Given the description of an element on the screen output the (x, y) to click on. 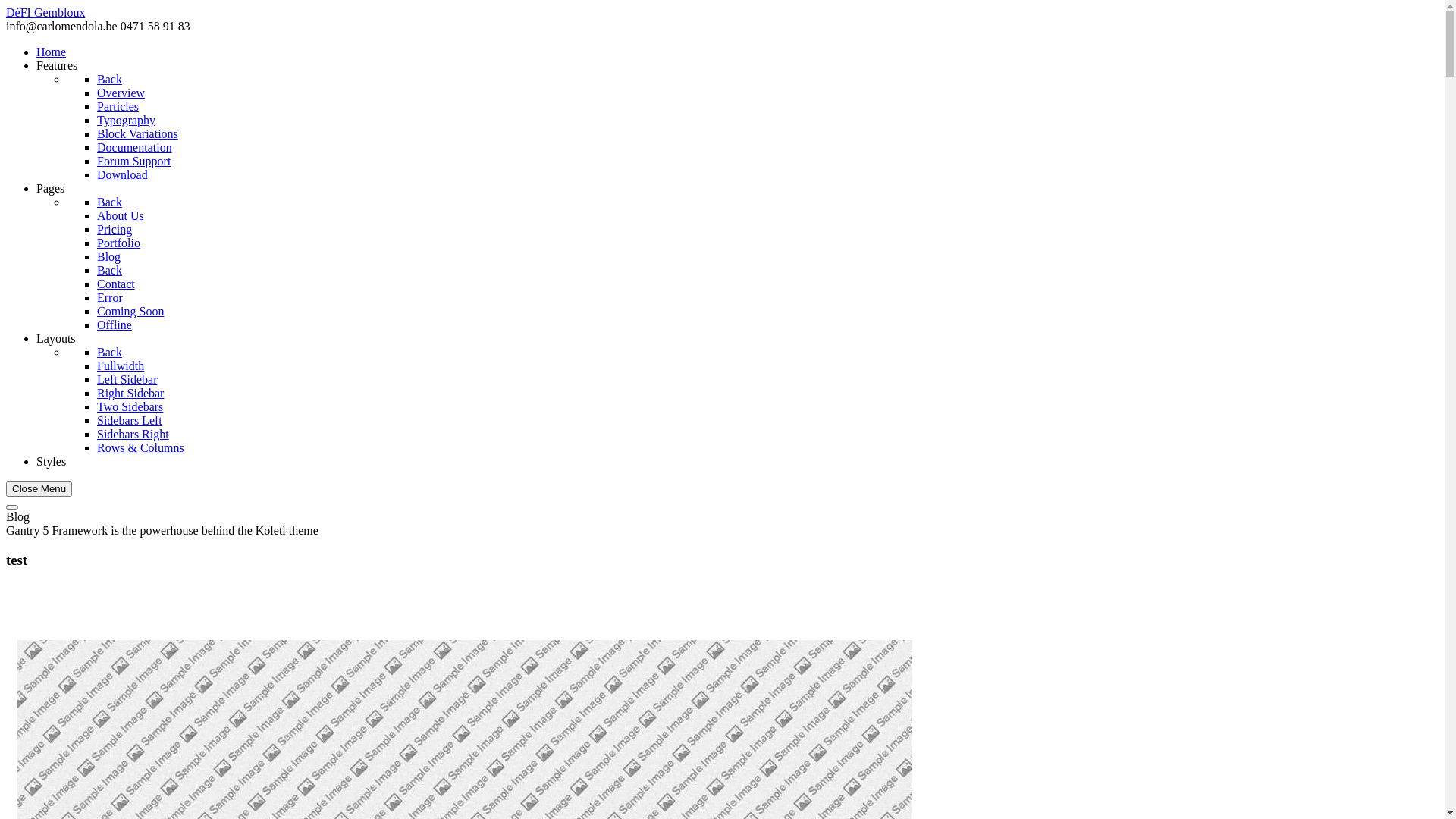
Block Variations Element type: text (137, 133)
Back Element type: text (109, 201)
Sidebars Left Element type: text (129, 420)
Fullwidth Element type: text (120, 365)
Back Element type: text (109, 351)
Documentation Element type: text (134, 147)
Right Sidebar Element type: text (130, 392)
Overview Element type: text (120, 92)
Close Menu Element type: text (39, 488)
Download Element type: text (122, 174)
Typography Element type: text (126, 119)
Pricing Element type: text (114, 228)
Left Sidebar Element type: text (127, 379)
Back Element type: text (109, 269)
Back Element type: text (109, 78)
About Us Element type: text (120, 215)
Particles Element type: text (117, 106)
Coming Soon Element type: text (130, 310)
Contact Element type: text (115, 283)
Forum Support Element type: text (133, 160)
Sidebars Right Element type: text (133, 433)
Offline Element type: text (114, 324)
Portfolio Element type: text (118, 242)
Rows & Columns Element type: text (140, 447)
Error Element type: text (109, 297)
Blog Element type: text (108, 256)
Home Element type: text (50, 51)
Two Sidebars Element type: text (130, 406)
